Given the description of an element on the screen output the (x, y) to click on. 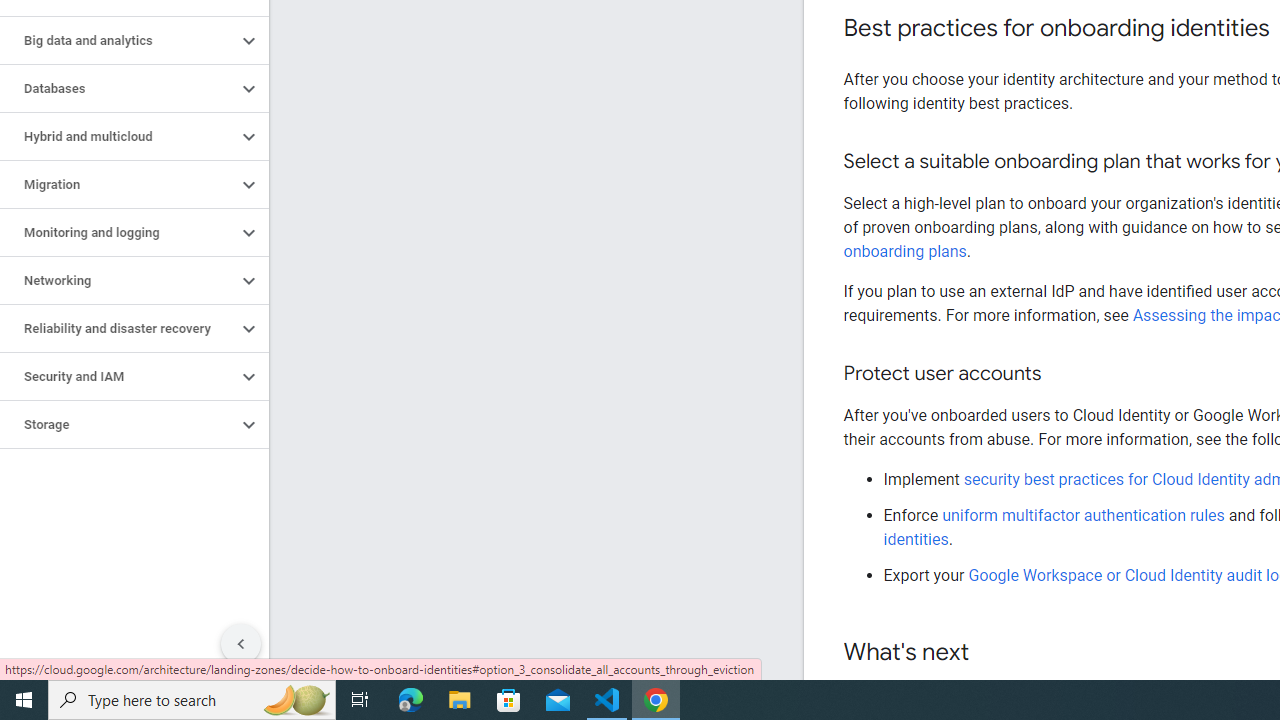
Hide side navigation (241, 643)
Storage (118, 425)
Reliability and disaster recovery (118, 328)
Big data and analytics (118, 40)
Networking (118, 281)
Copy link to this section: Protect user accounts (1060, 374)
Hybrid and multicloud (118, 137)
Monitoring and logging (118, 232)
Security and IAM (118, 376)
Databases (118, 88)
Copy link to this section: What's next (988, 653)
Migration (118, 184)
uniform multifactor authentication rules  (1085, 515)
